Given the description of an element on the screen output the (x, y) to click on. 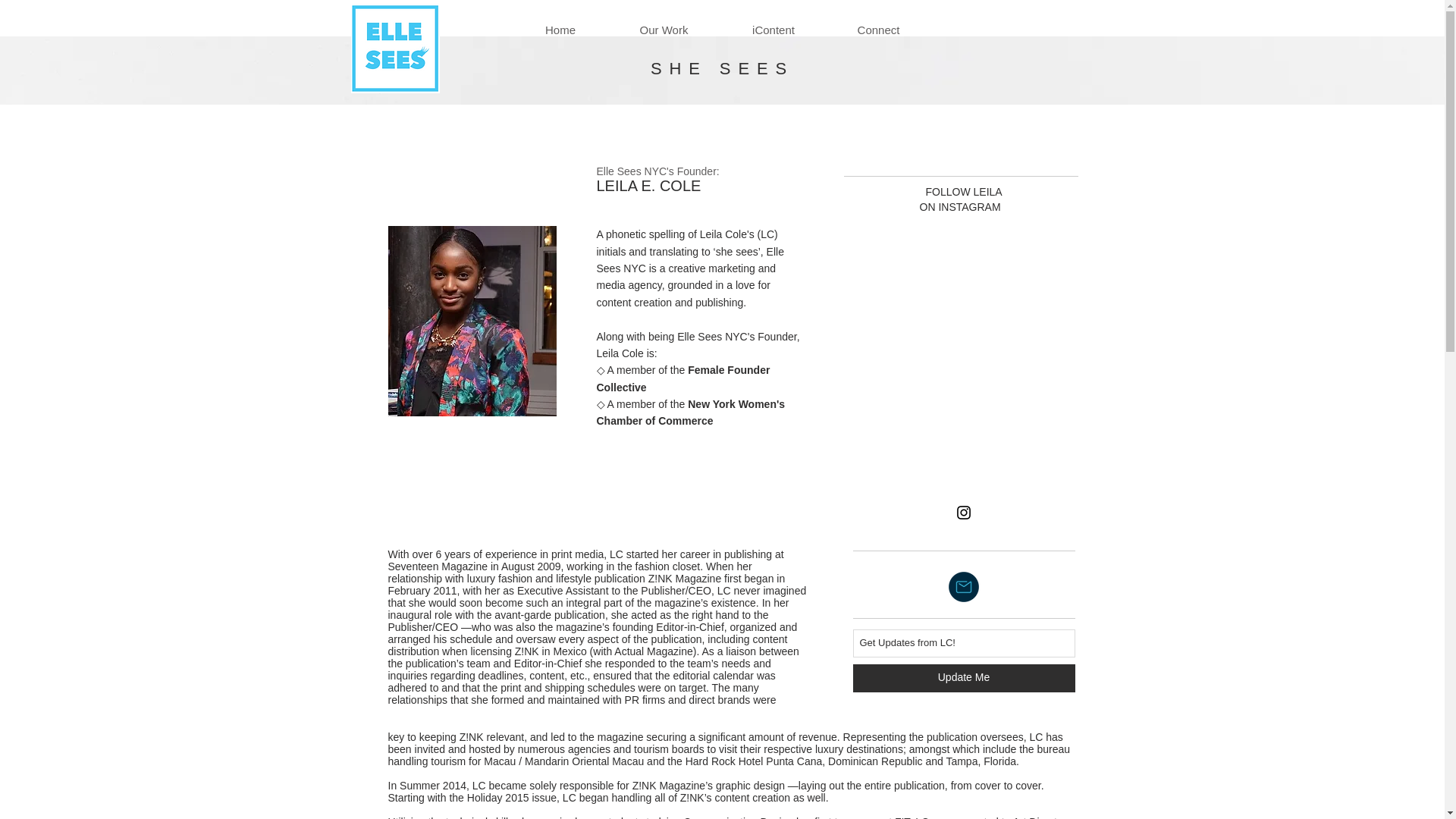
Connect (879, 30)
Update Me (962, 678)
SHE SEES (721, 67)
iContent (772, 30)
Home (560, 30)
